Given the description of an element on the screen output the (x, y) to click on. 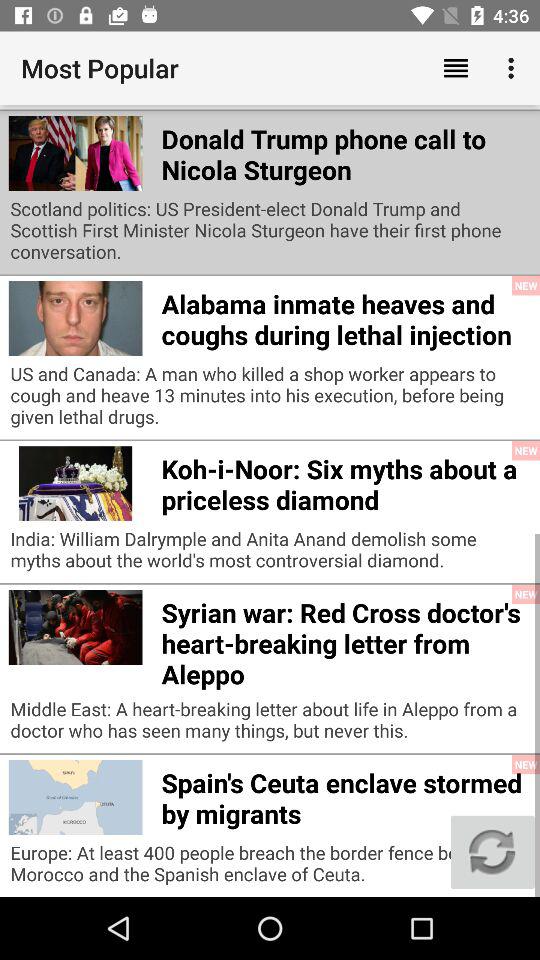
choose the syrian war red (345, 640)
